Given the description of an element on the screen output the (x, y) to click on. 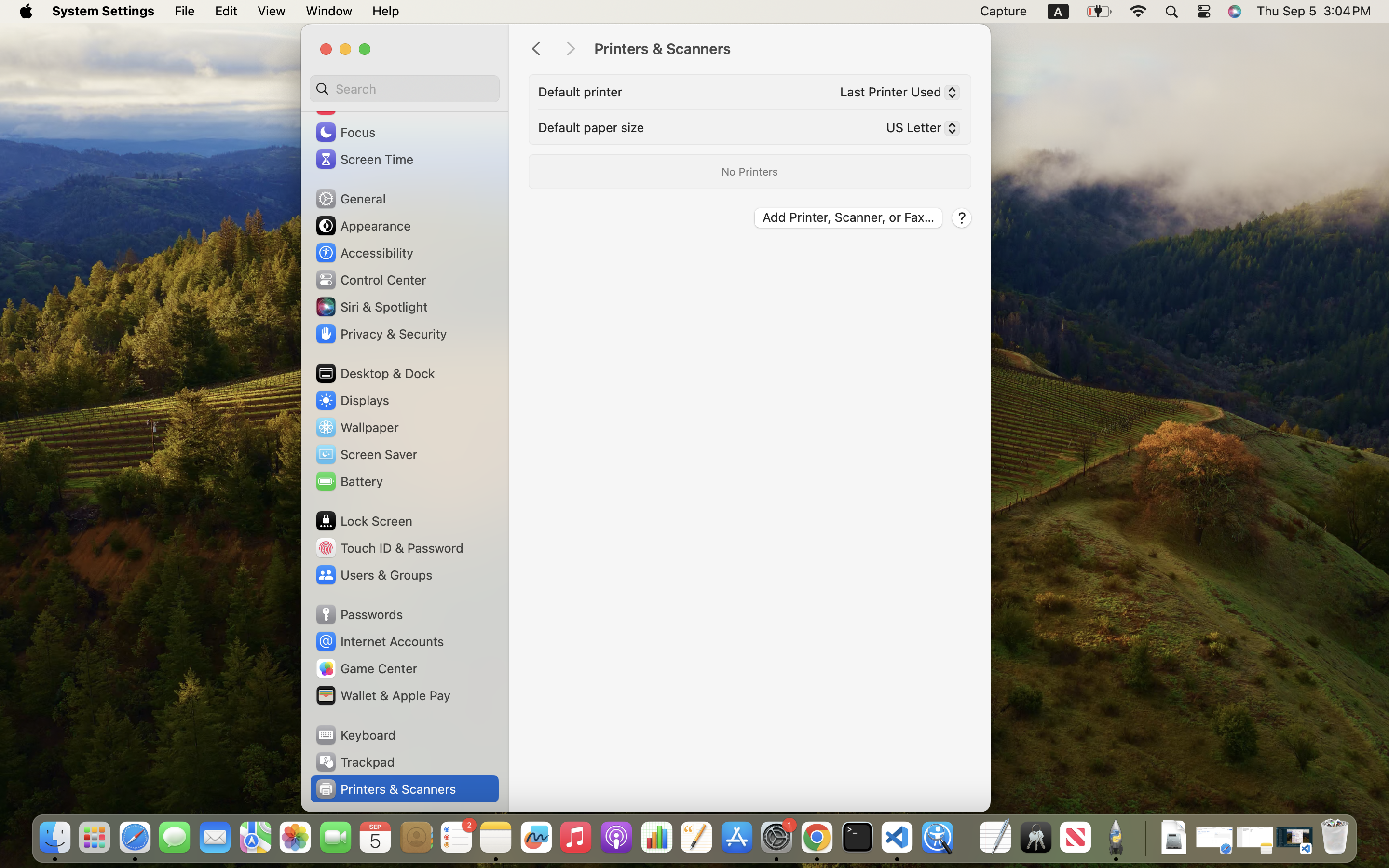
Sound Element type: AXStaticText (346, 104)
No Printers Element type: AXStaticText (749, 171)
Default printer Element type: AXStaticText (580, 91)
Displays Element type: AXStaticText (351, 399)
Trackpad Element type: AXStaticText (354, 761)
